Given the description of an element on the screen output the (x, y) to click on. 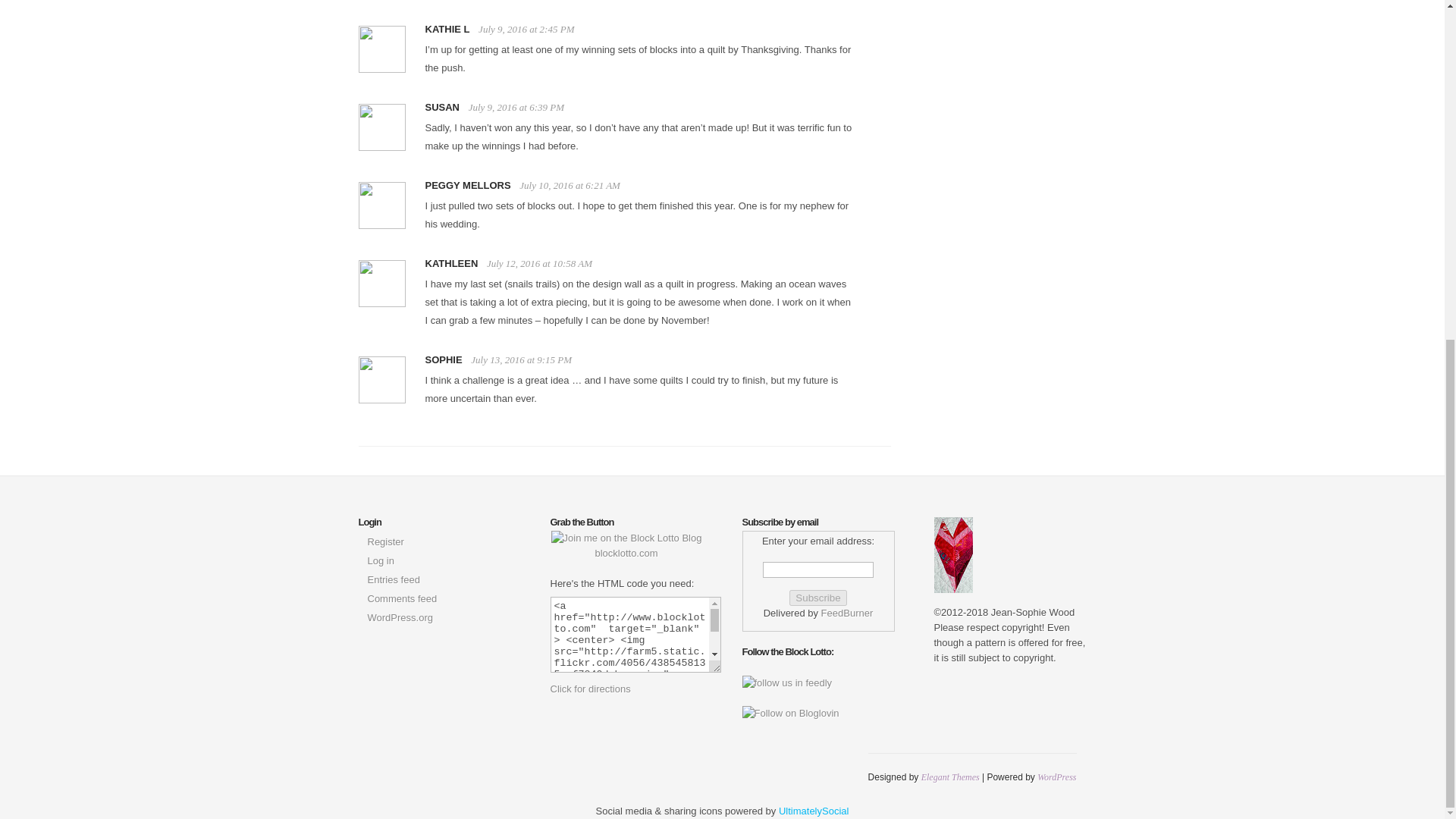
Follow Block Lotto on Bloglovin (789, 713)
UltimatelySocial (813, 810)
FeedBurner (847, 613)
Subscribe (817, 597)
SOPHIE (443, 359)
WordPress (1055, 777)
Premium WordPress Themes (950, 777)
SUSAN (442, 107)
Log in (379, 560)
Subscribe (817, 597)
